Given the description of an element on the screen output the (x, y) to click on. 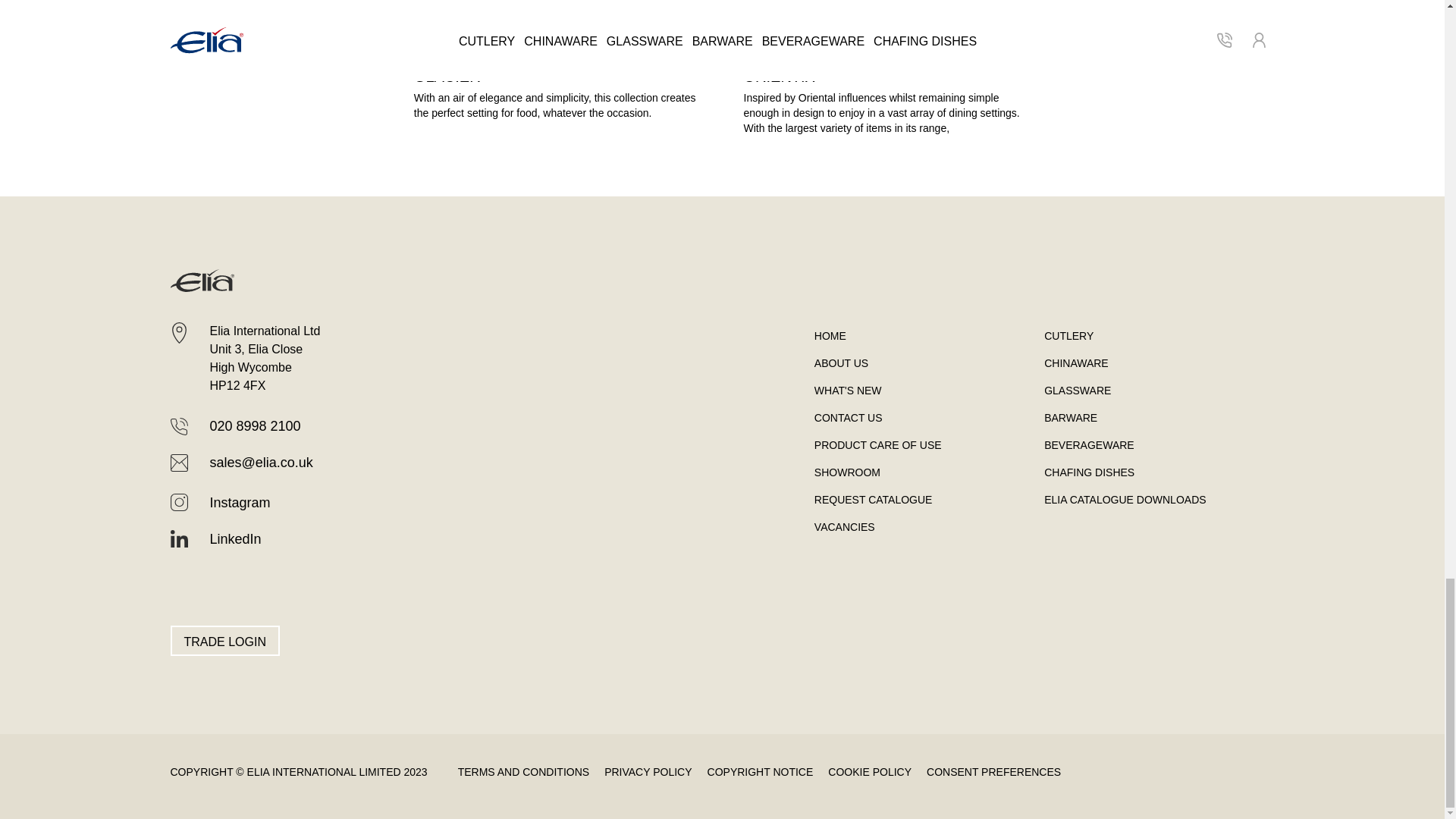
Instagram (219, 502)
LinkedIn (215, 538)
CUTLERY (1068, 336)
PRODUCT CARE OF USE (877, 444)
REQUEST CATALOGUE (557, 66)
ABOUT US (873, 499)
SHOWROOM (840, 363)
HOME (846, 472)
BEVERAGEWARE (829, 336)
